Given the description of an element on the screen output the (x, y) to click on. 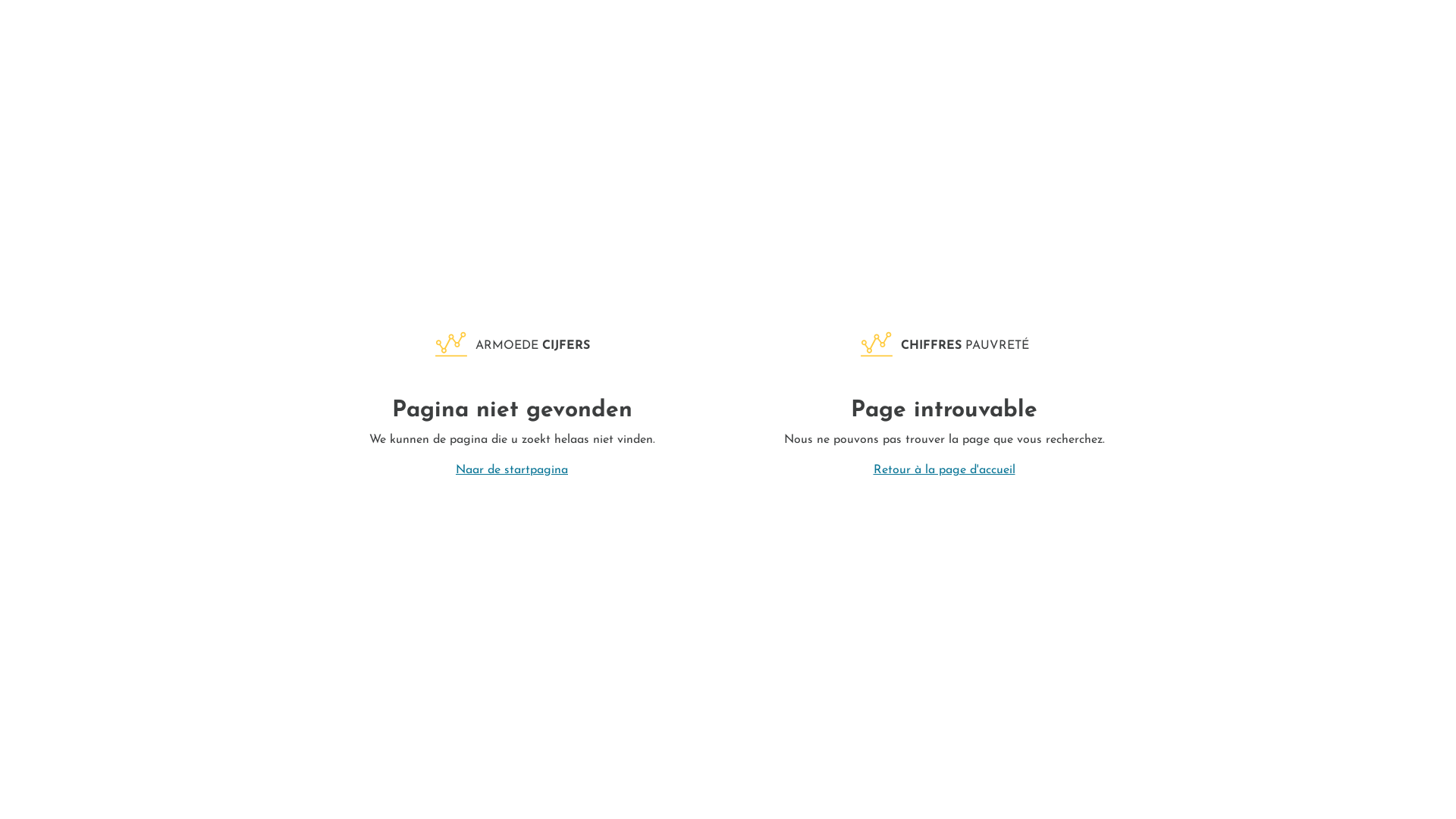
Naar de startpagina Element type: text (511, 470)
